Given the description of an element on the screen output the (x, y) to click on. 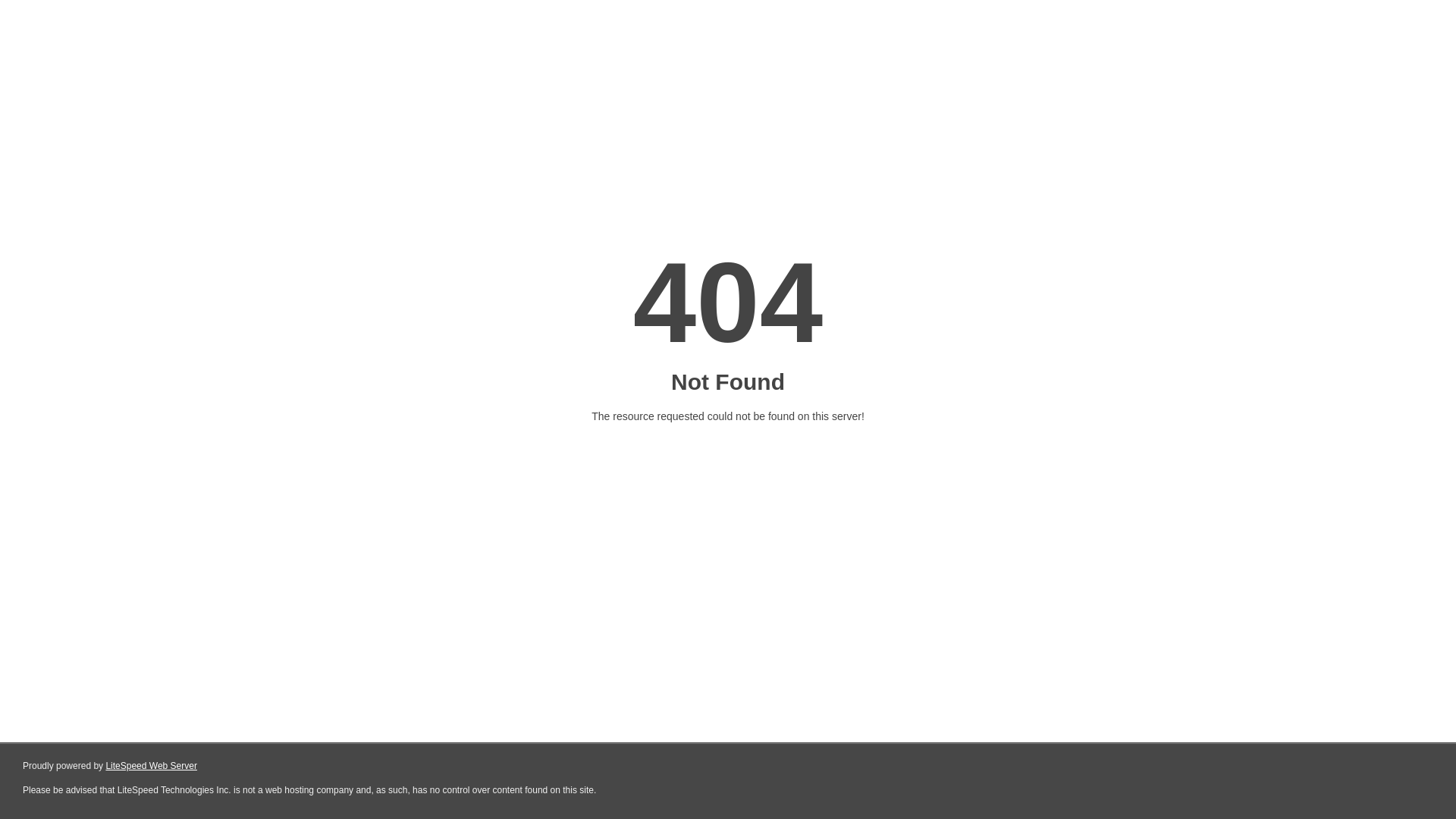
LiteSpeed Web Server Element type: text (151, 765)
